Given the description of an element on the screen output the (x, y) to click on. 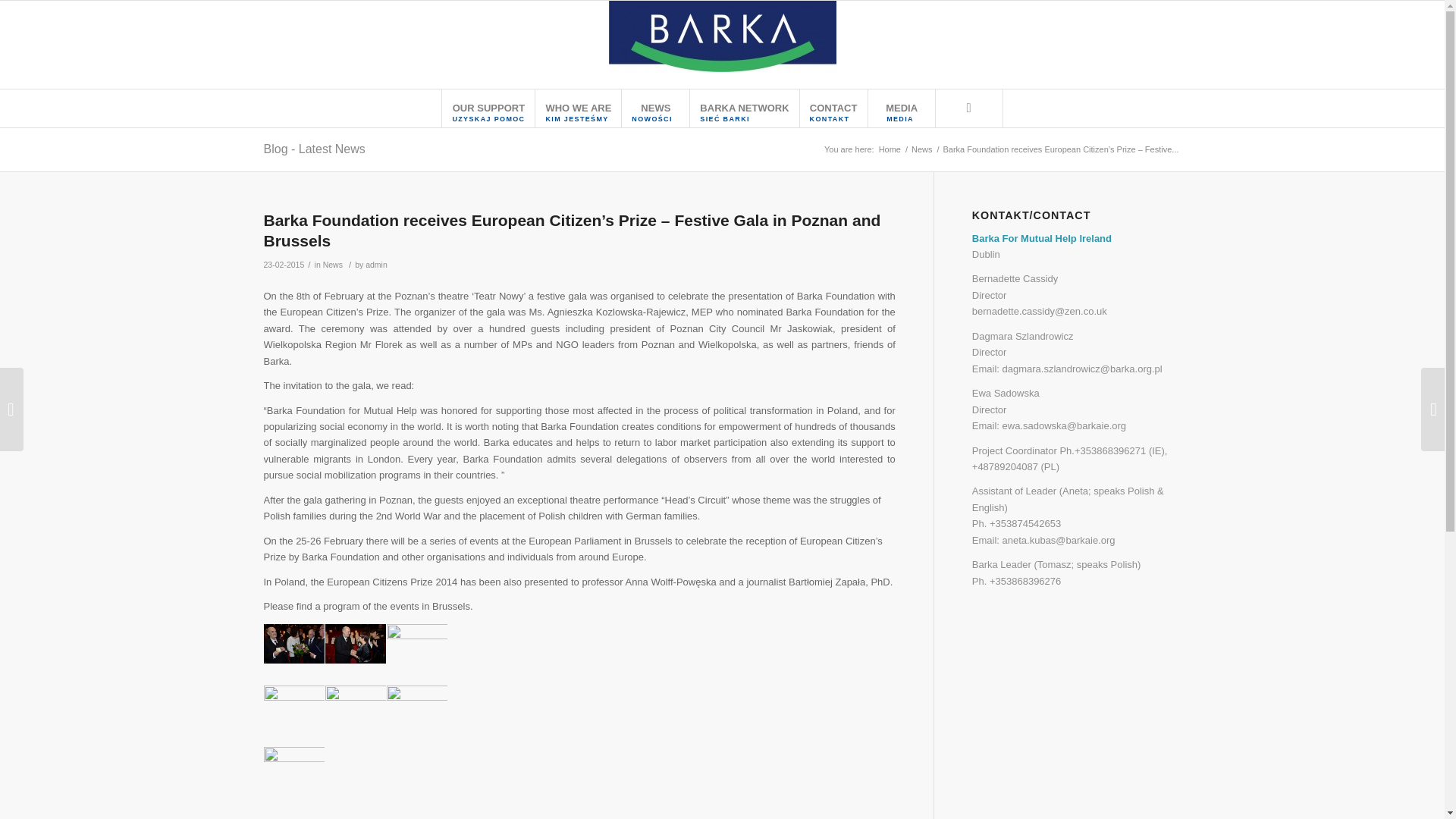
News (921, 149)
admin (901, 108)
Blog - Latest News (376, 264)
Permanent Link: Blog - Latest News (487, 108)
News (314, 148)
Posts by admin (314, 148)
Barka IE (833, 108)
Home (332, 264)
